Given the description of an element on the screen output the (x, y) to click on. 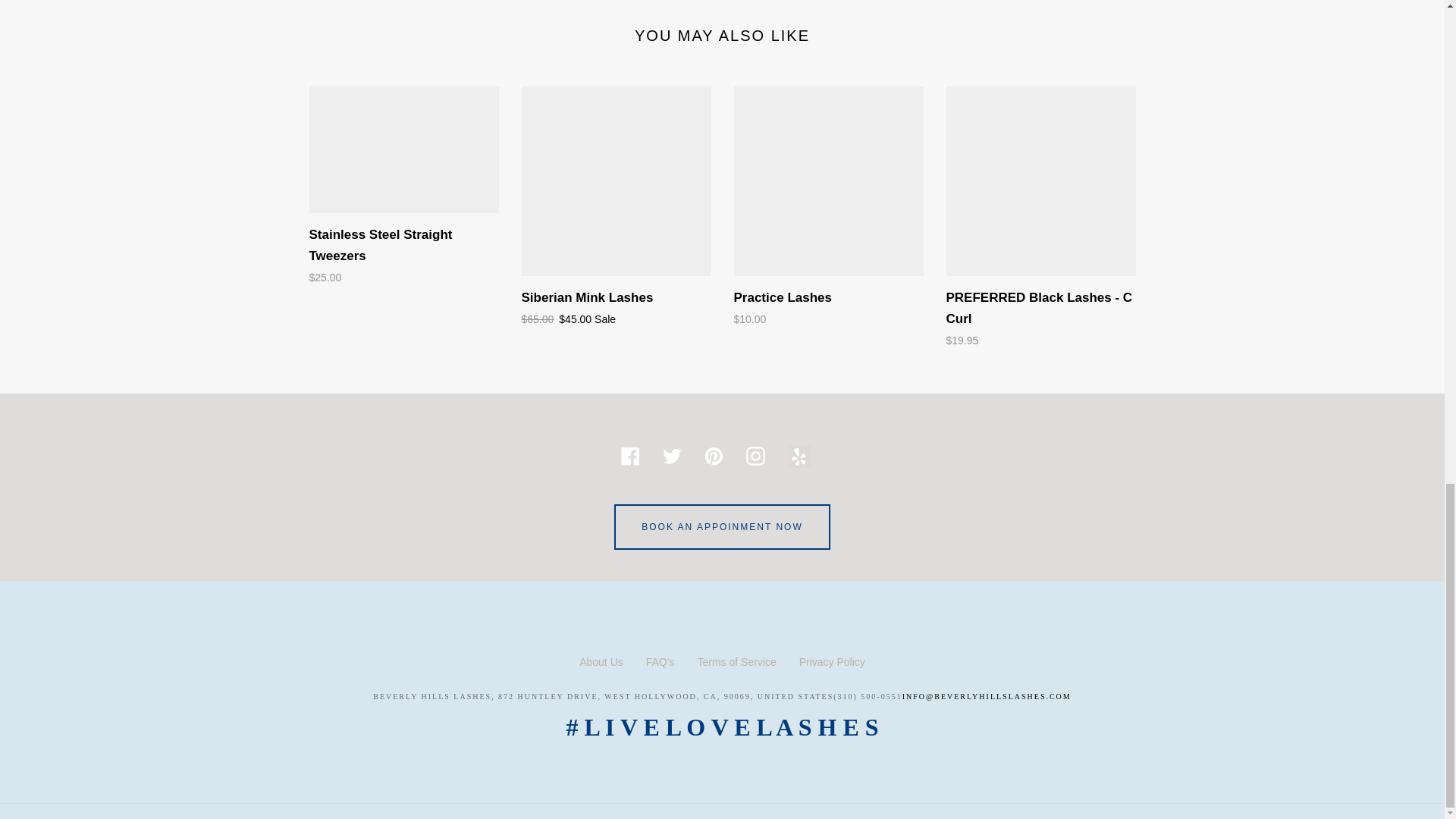
Stainless Steel Straight Tweezers (403, 187)
